Given the description of an element on the screen output the (x, y) to click on. 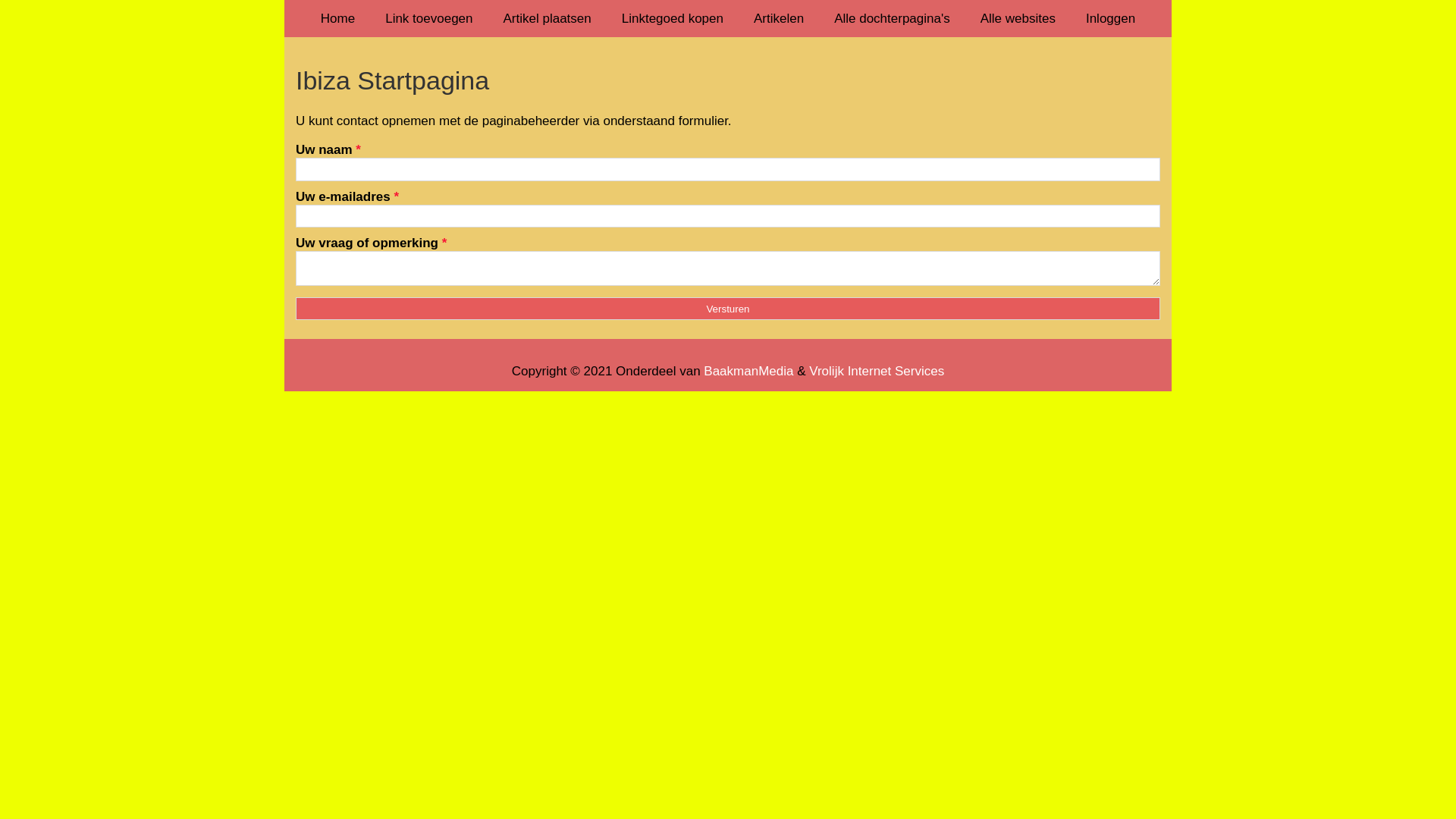
BaakmanMedia Element type: text (748, 371)
Alle dochterpagina's Element type: text (892, 18)
Vrolijk Internet Services Element type: text (876, 371)
Ibiza Startpagina Element type: text (727, 80)
Alle websites Element type: text (1017, 18)
Link toevoegen Element type: text (428, 18)
Versturen Element type: text (727, 308)
Artikel plaatsen Element type: text (547, 18)
Inloggen Element type: text (1110, 18)
Linktegoed kopen Element type: text (672, 18)
Home Element type: text (337, 18)
Artikelen Element type: text (778, 18)
